Given the description of an element on the screen output the (x, y) to click on. 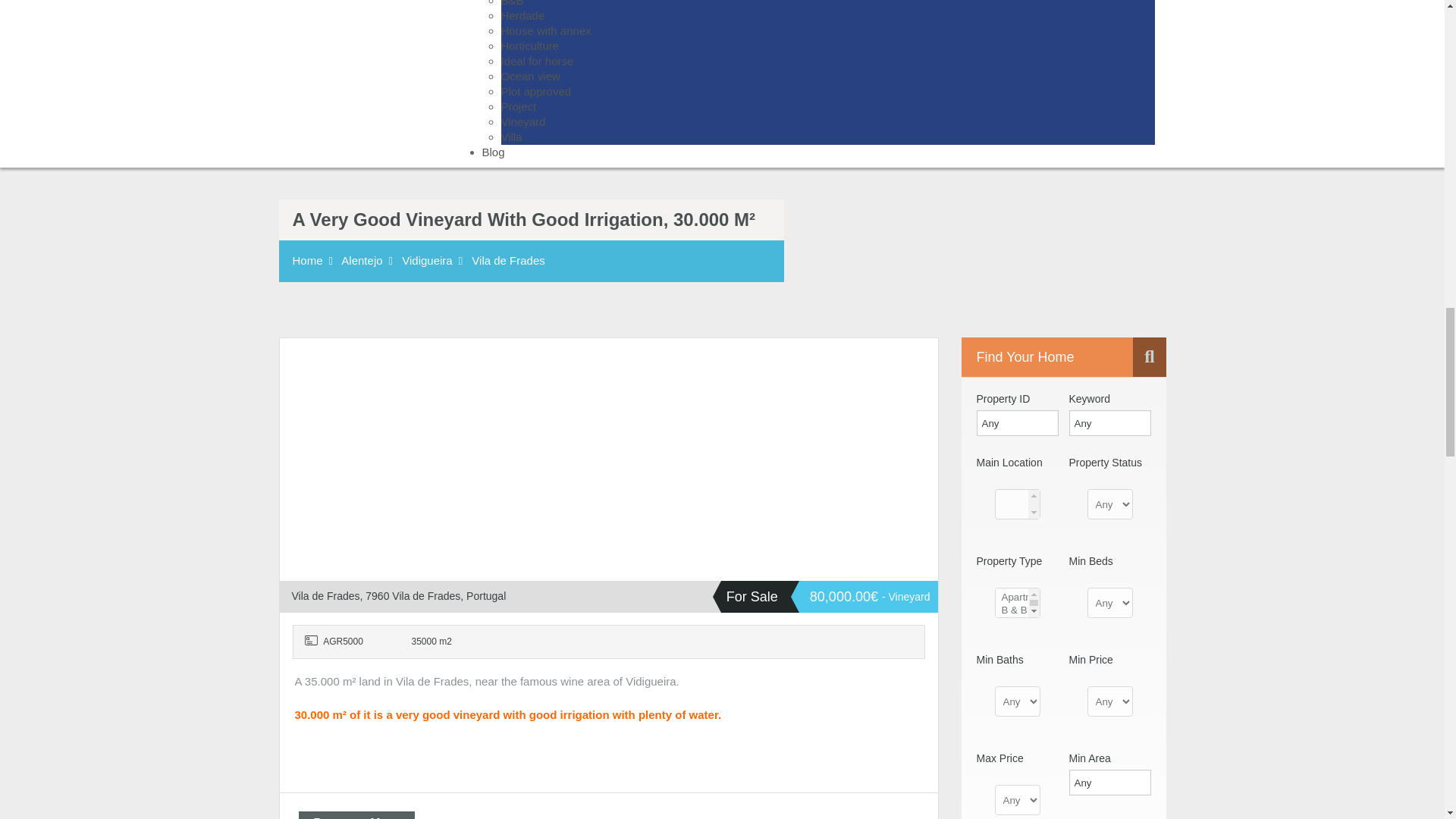
All Types (1017, 603)
Only provide digits! (1109, 782)
Property ID (339, 641)
All Locations (1017, 503)
Add to favorite (309, 372)
Property Size (419, 641)
